Given the description of an element on the screen output the (x, y) to click on. 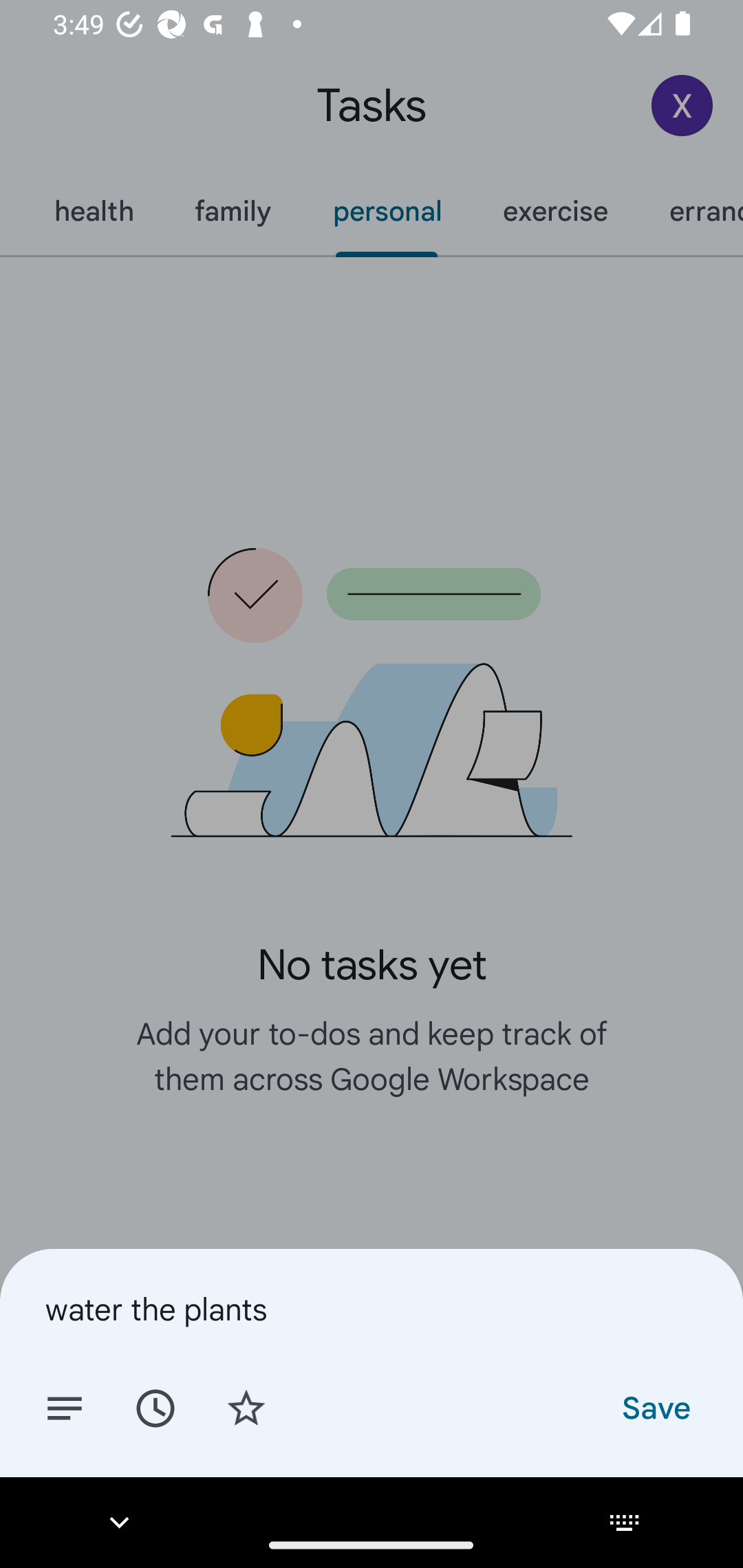
water the plants (371, 1308)
Save (655, 1407)
Add details (64, 1407)
Set date/time (154, 1407)
Add star (245, 1407)
